Given the description of an element on the screen output the (x, y) to click on. 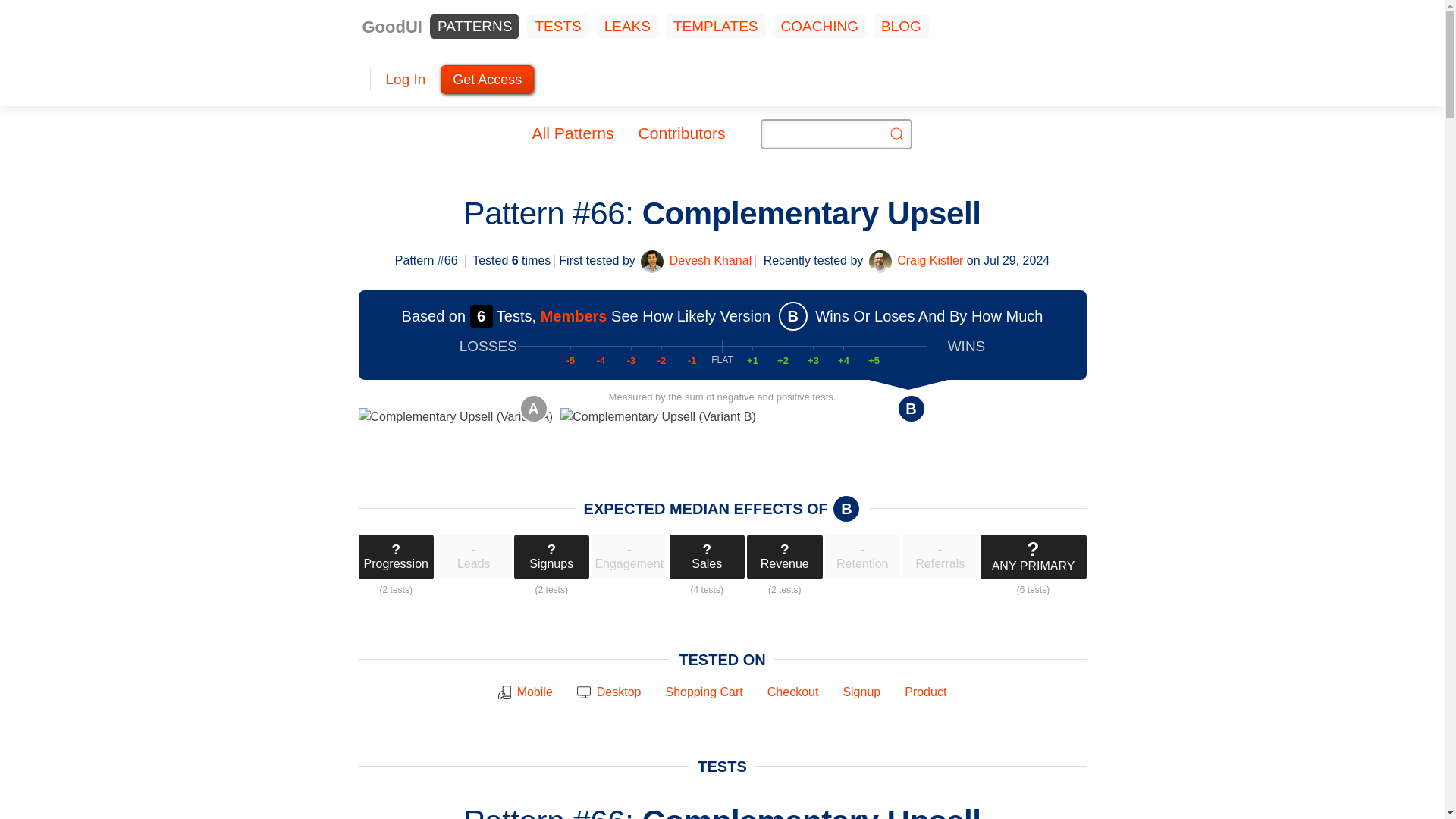
Craig Kistler (929, 260)
All Patterns (573, 133)
Contributors (681, 133)
Signup (861, 692)
Shopping Cart (703, 692)
Desktop (619, 692)
Checkout (792, 692)
Members (573, 315)
PATTERNS (475, 26)
TESTS (557, 26)
